Given the description of an element on the screen output the (x, y) to click on. 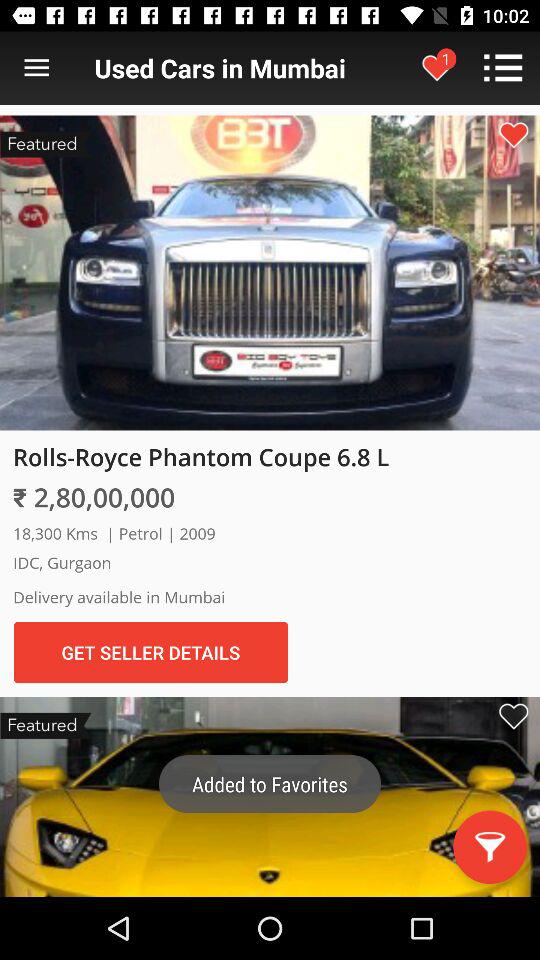
like (513, 134)
